Given the description of an element on the screen output the (x, y) to click on. 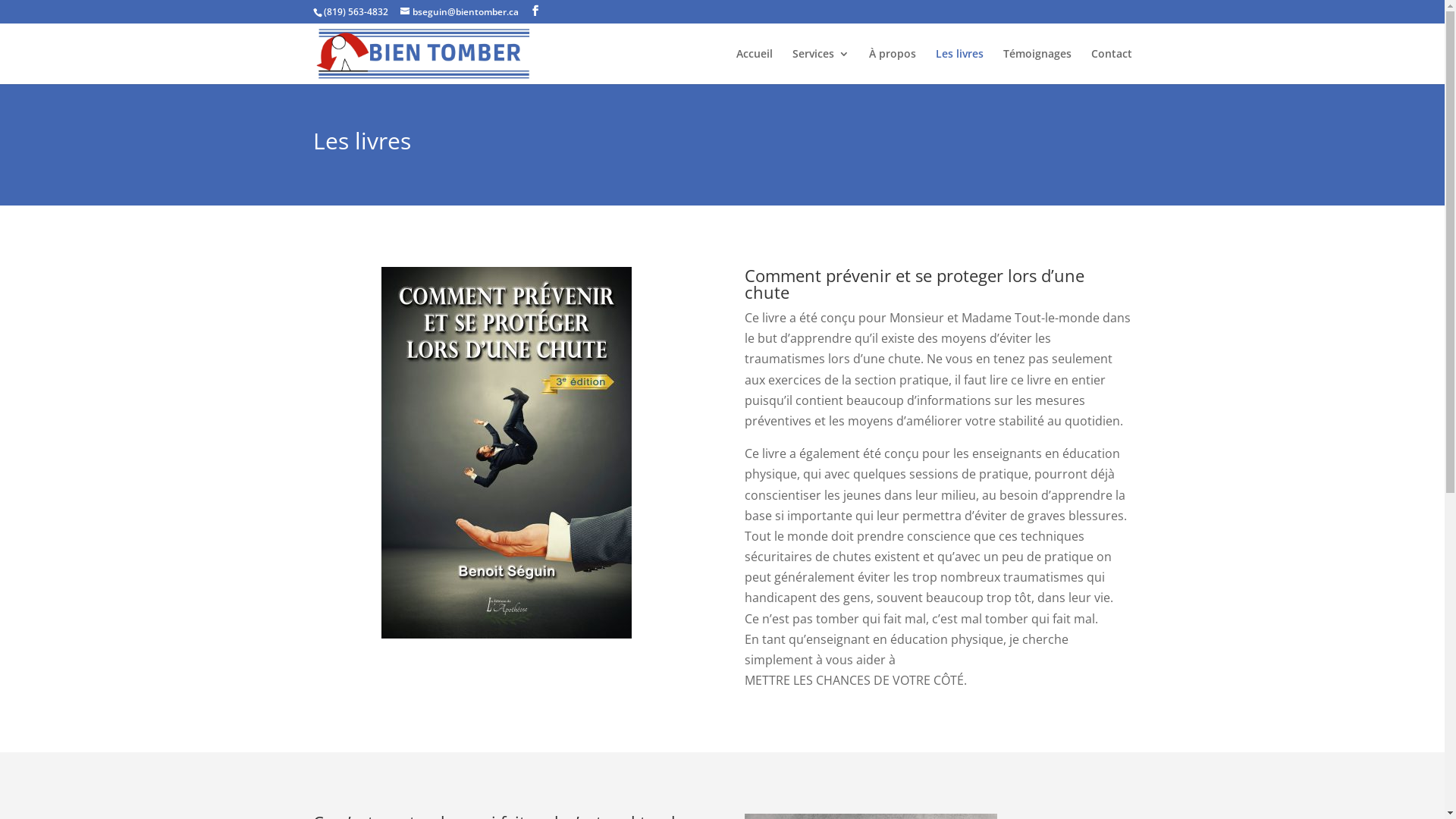
Les livres Element type: text (959, 66)
Services Element type: text (819, 66)
Accueil Element type: text (753, 66)
bseguin@bientomber.ca Element type: text (459, 11)
Contact Element type: text (1110, 66)
